Given the description of an element on the screen output the (x, y) to click on. 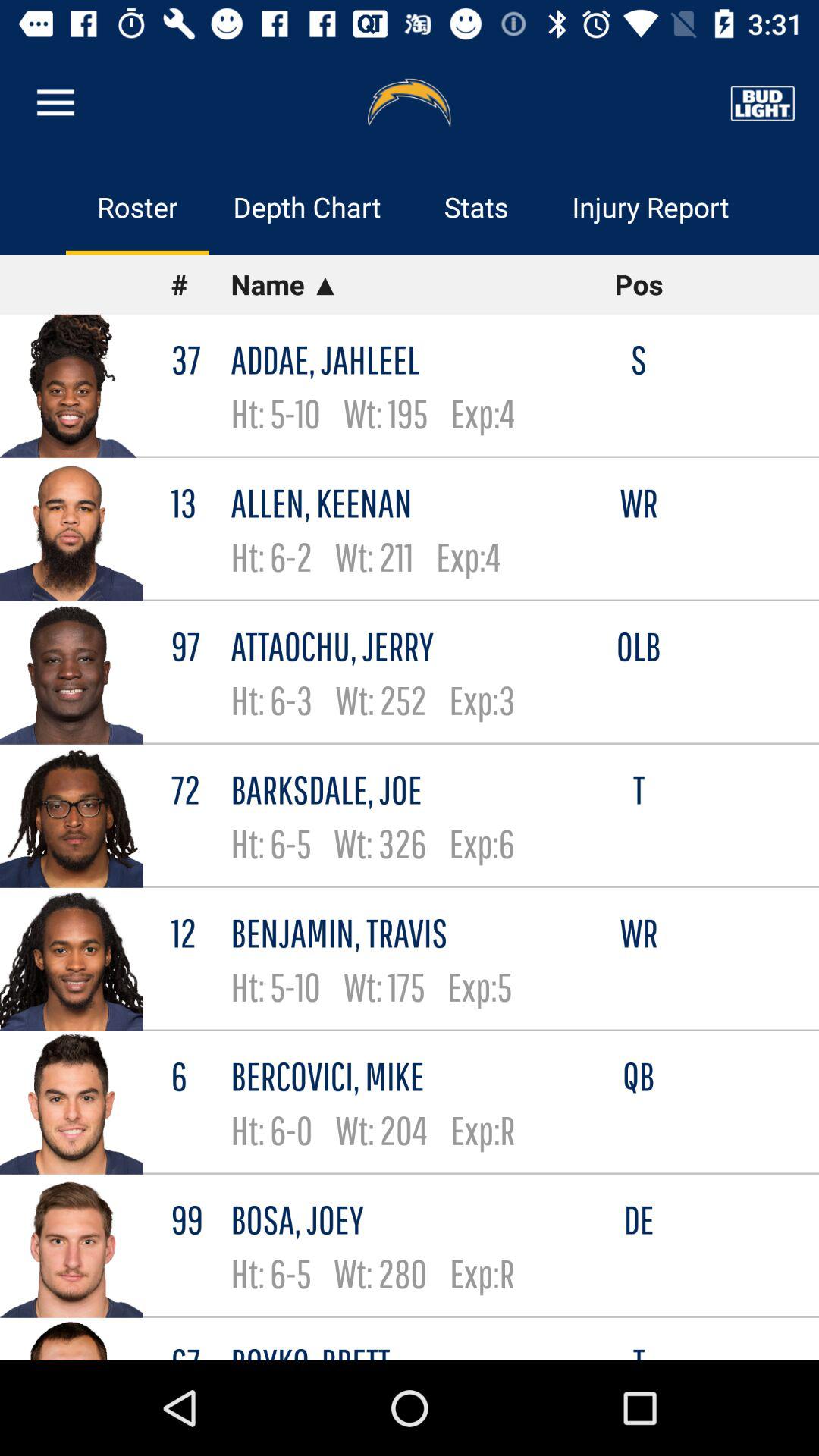
click the item next to the # icon (399, 284)
